Given the description of an element on the screen output the (x, y) to click on. 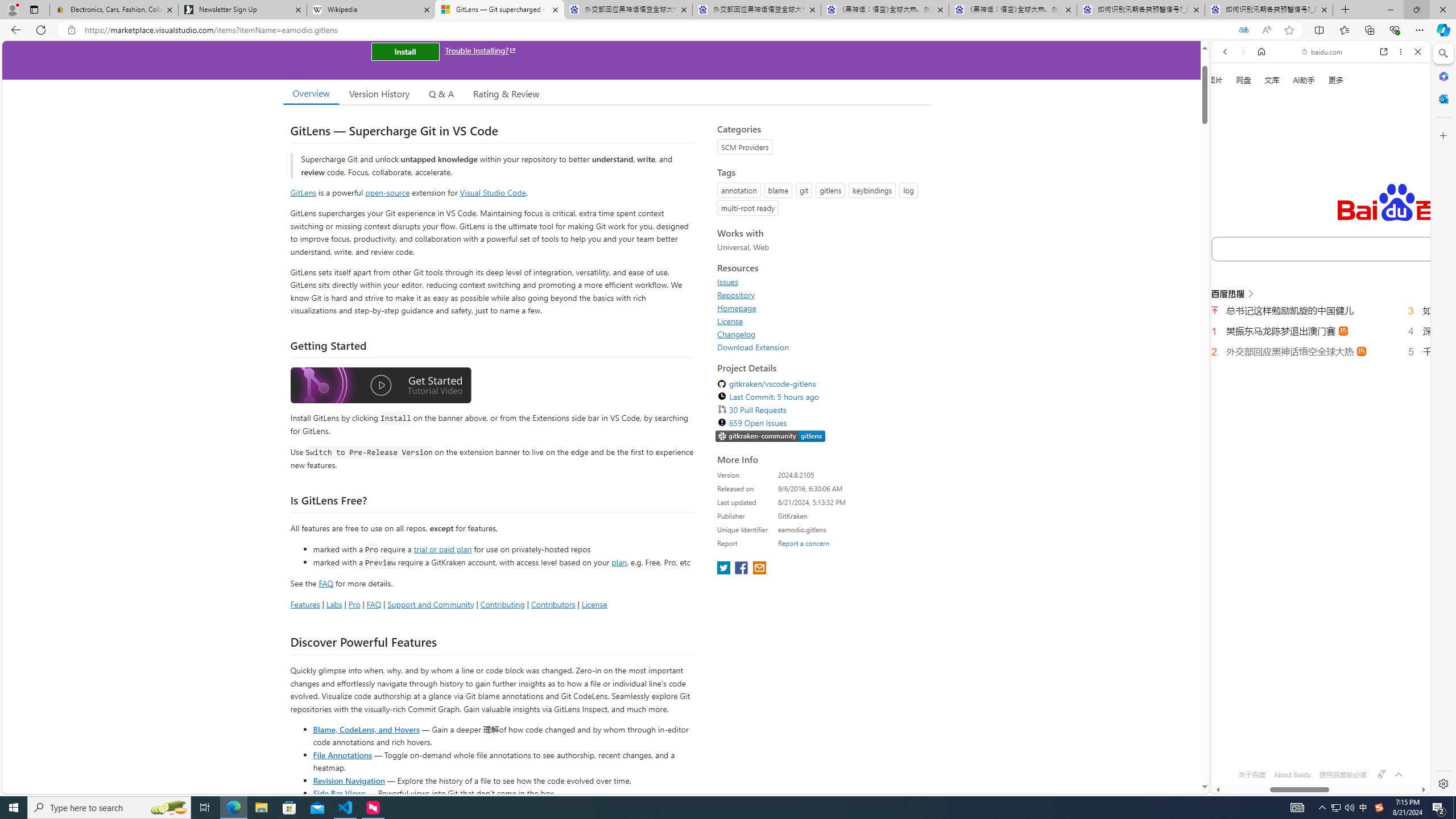
OFTV (1315, 743)
Pro (354, 603)
Version History (379, 92)
Learn more (1264, 154)
